Given the description of an element on the screen output the (x, y) to click on. 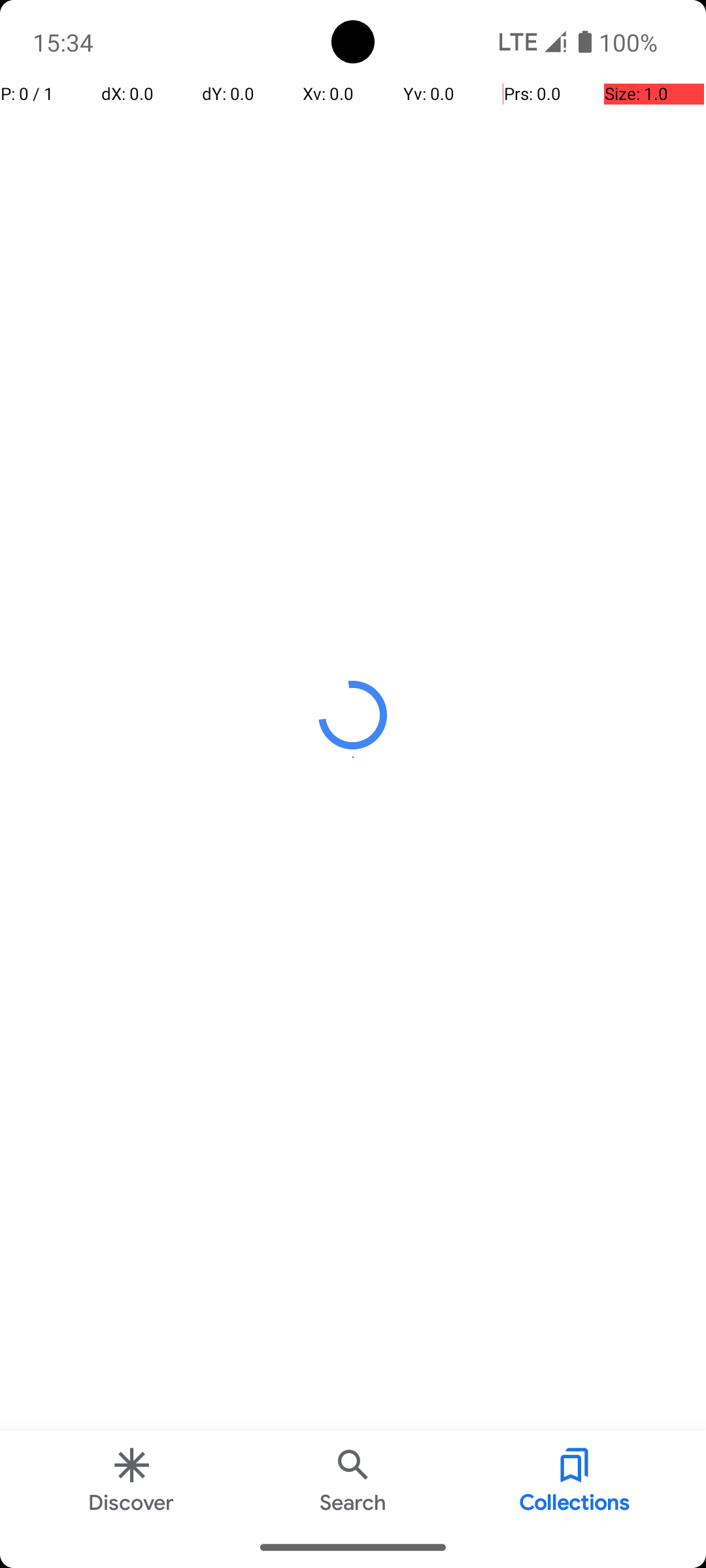
Collections Button Element type: android.widget.FrameLayout (574, 1478)
